Given the description of an element on the screen output the (x, y) to click on. 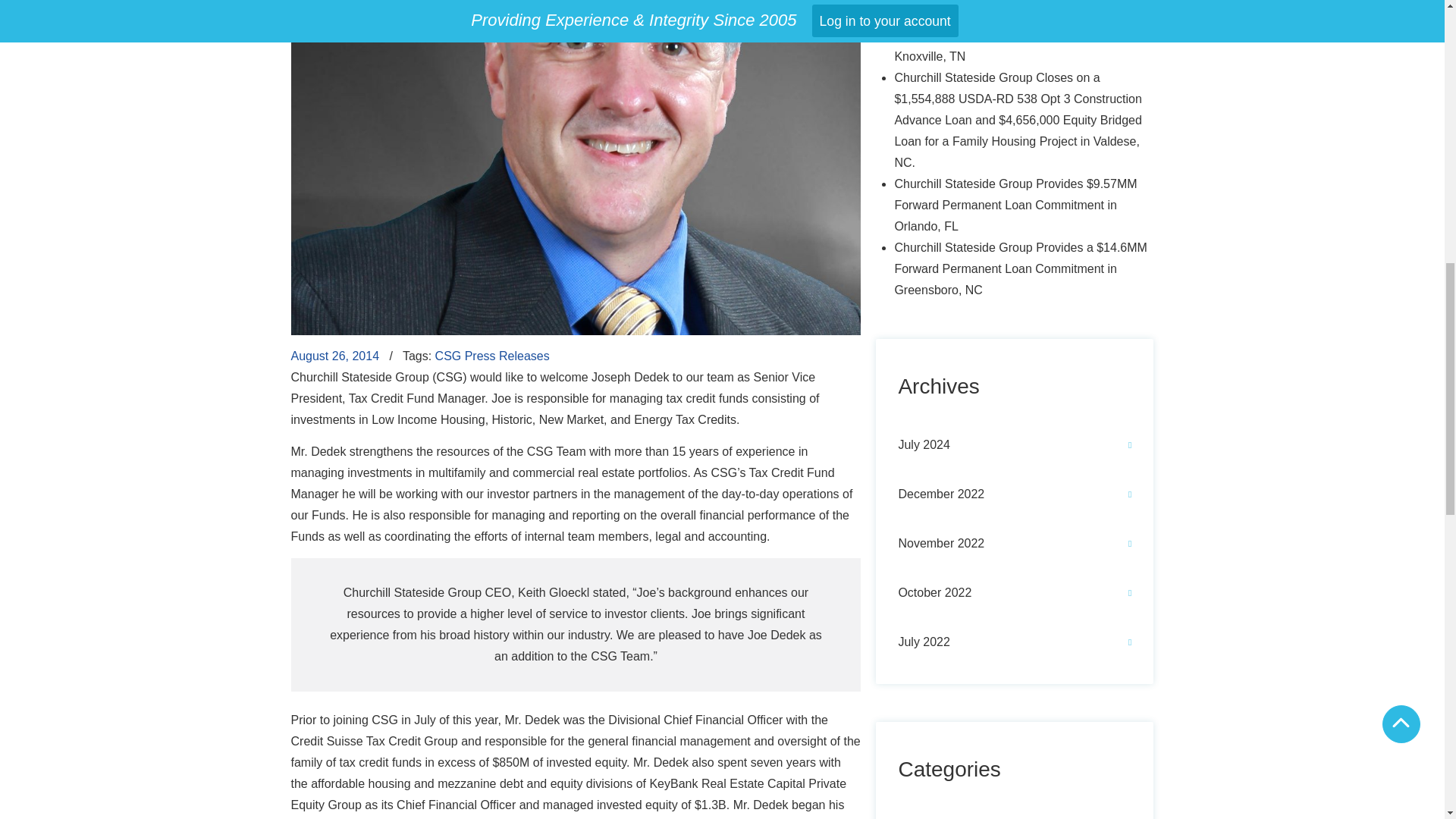
CSG Press Releases (492, 355)
July 2024 (1013, 444)
December 2022 (1013, 494)
August 26, 2014 (335, 355)
